Given the description of an element on the screen output the (x, y) to click on. 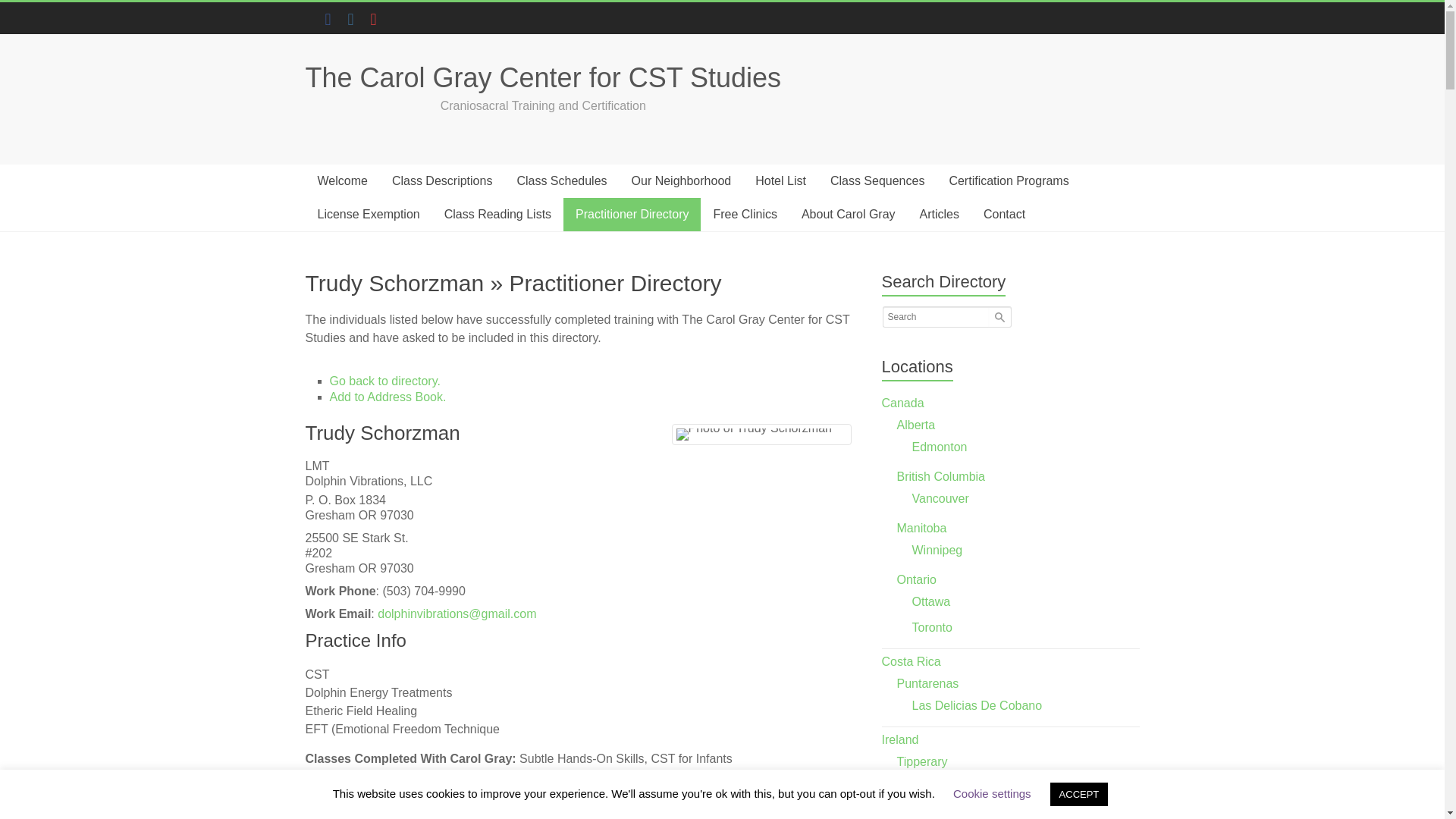
Photo of Trudy Schorzman (754, 434)
Edmonton (940, 446)
Class Descriptions (441, 181)
Certification Programs (1008, 181)
Hotel List (780, 181)
Download vCard (387, 396)
Ottawa (931, 601)
British Columbia (940, 476)
Toronto (932, 626)
Class Schedules (560, 181)
Practitioner Directory (631, 214)
Winnipeg (937, 549)
Ontario (916, 579)
Ireland (900, 739)
Costa Rica (911, 661)
